Given the description of an element on the screen output the (x, y) to click on. 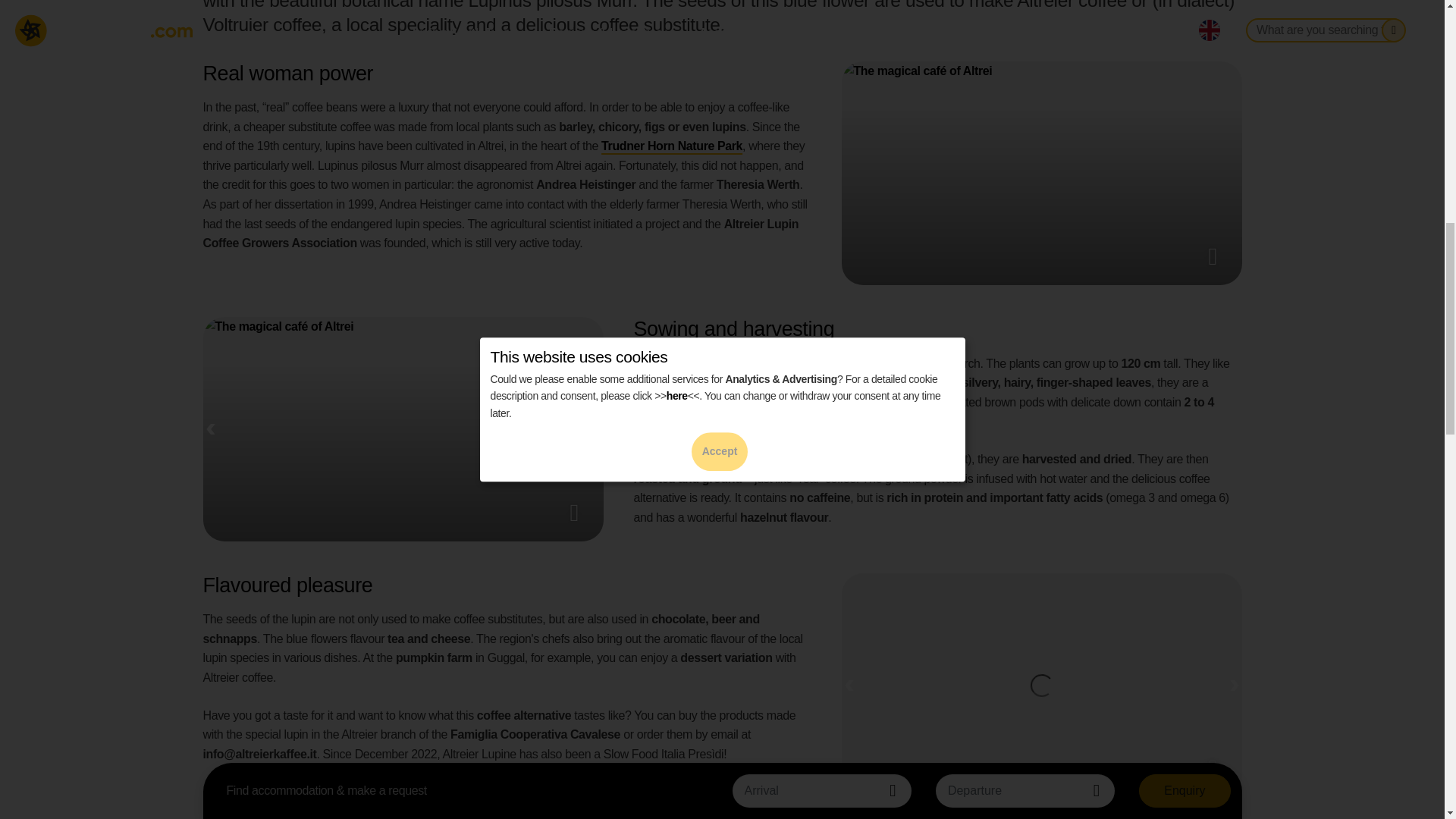
Trudner Horn (671, 145)
